Given the description of an element on the screen output the (x, y) to click on. 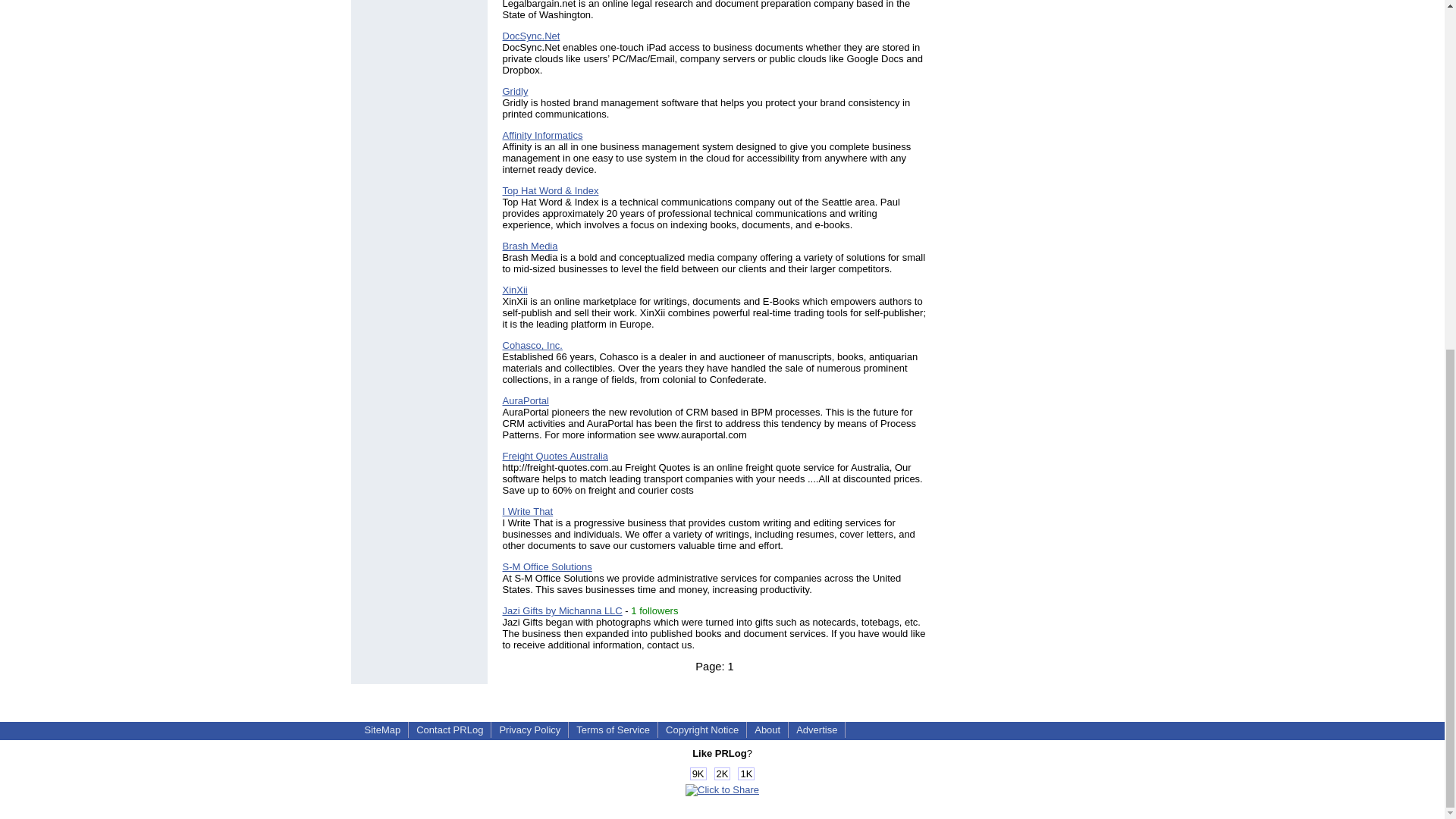
Jazi Gifts by Michanna LLC (561, 610)
SiteMap (382, 729)
Terms of Service (613, 729)
Contact PRLog (449, 729)
XinXii (514, 289)
I Write That (527, 511)
Share this page! (721, 789)
Cohasco, Inc. (532, 345)
Freight Quotes Australia (554, 455)
Privacy Policy (529, 729)
